Given the description of an element on the screen output the (x, y) to click on. 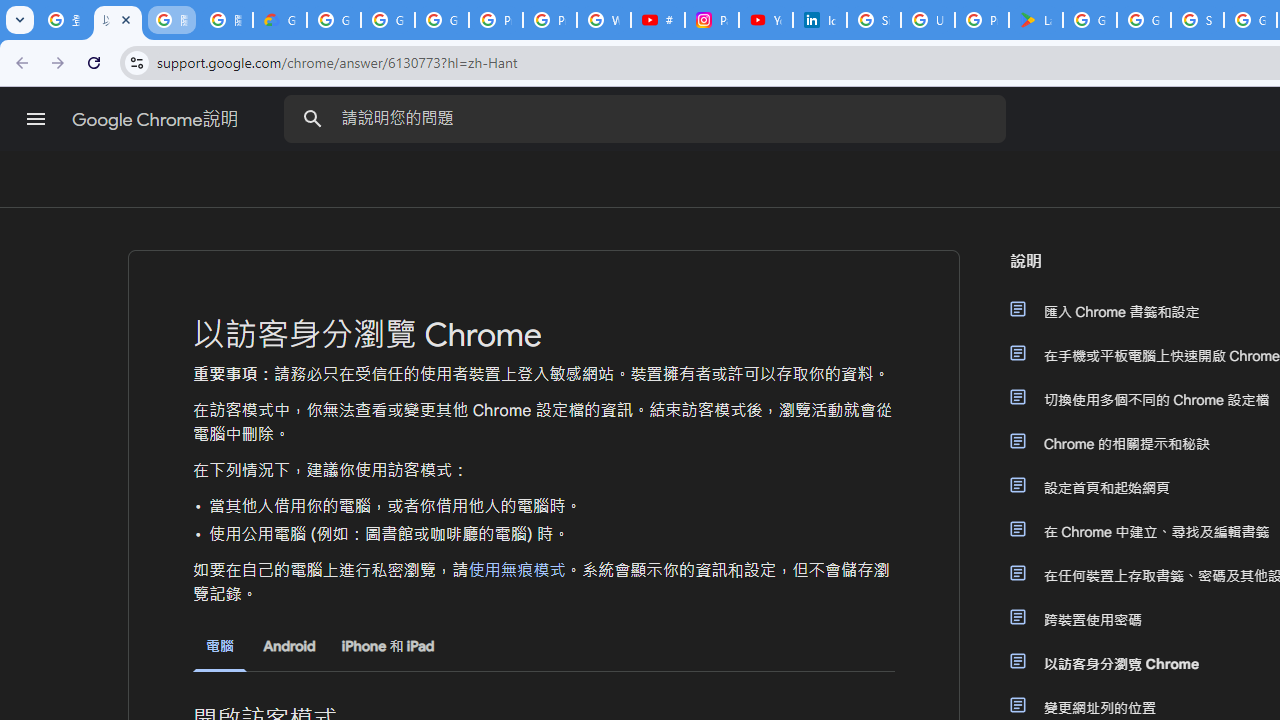
Privacy Help Center - Policies Help (550, 20)
